Given the description of an element on the screen output the (x, y) to click on. 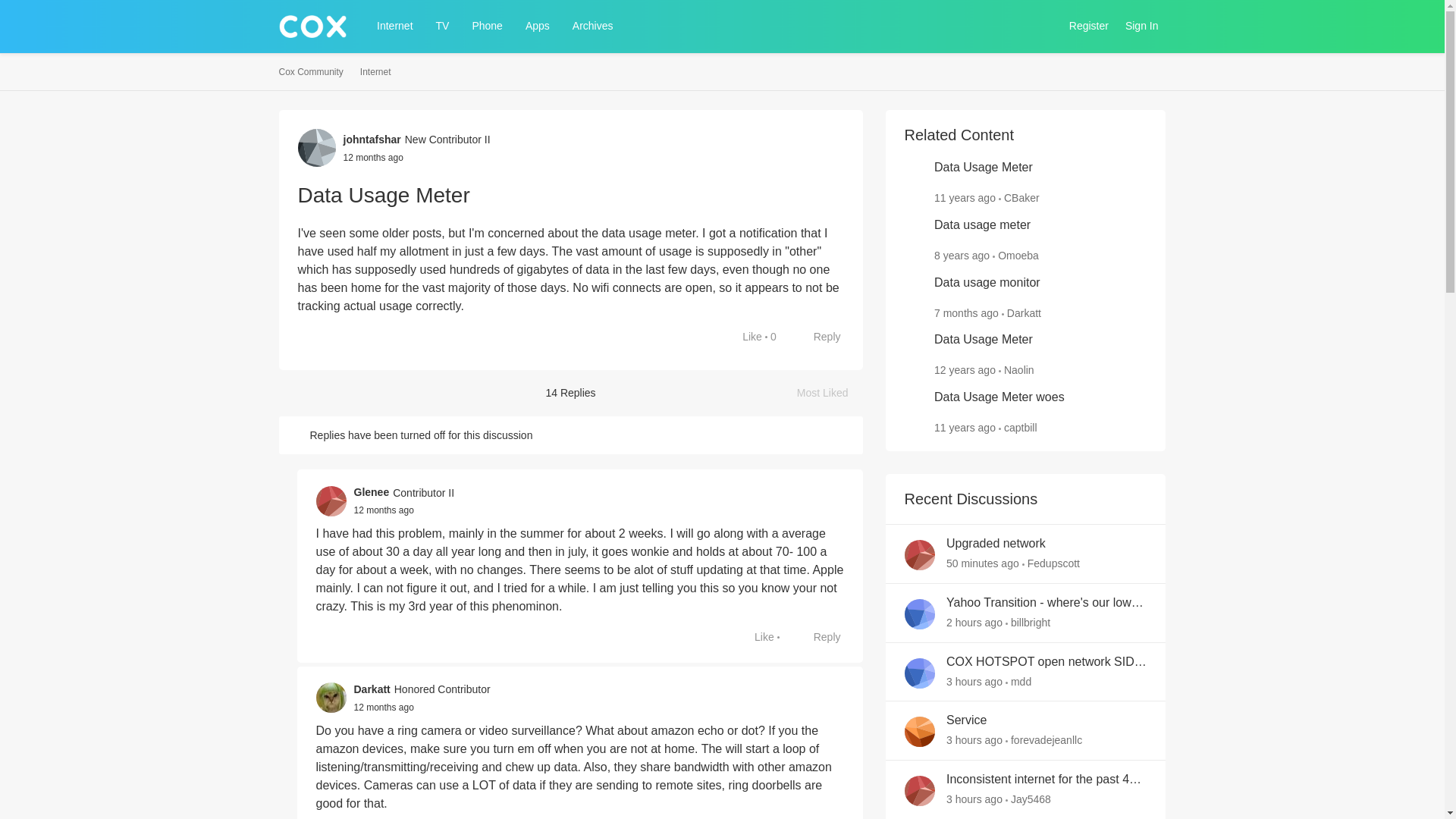
Archives (829, 392)
November 21, 2016 at 3:20 AM (592, 26)
Phone (962, 255)
June 10, 2014 at 12:14 PM (486, 26)
Sign In (964, 427)
Reply (1142, 26)
Internet (819, 336)
Like (375, 71)
August 4, 2023 at 4:35 AM (744, 336)
Data Usage Meter (383, 706)
12 months ago (983, 167)
Search (383, 509)
Like (1043, 26)
Data usage monitor (756, 637)
